Given the description of an element on the screen output the (x, y) to click on. 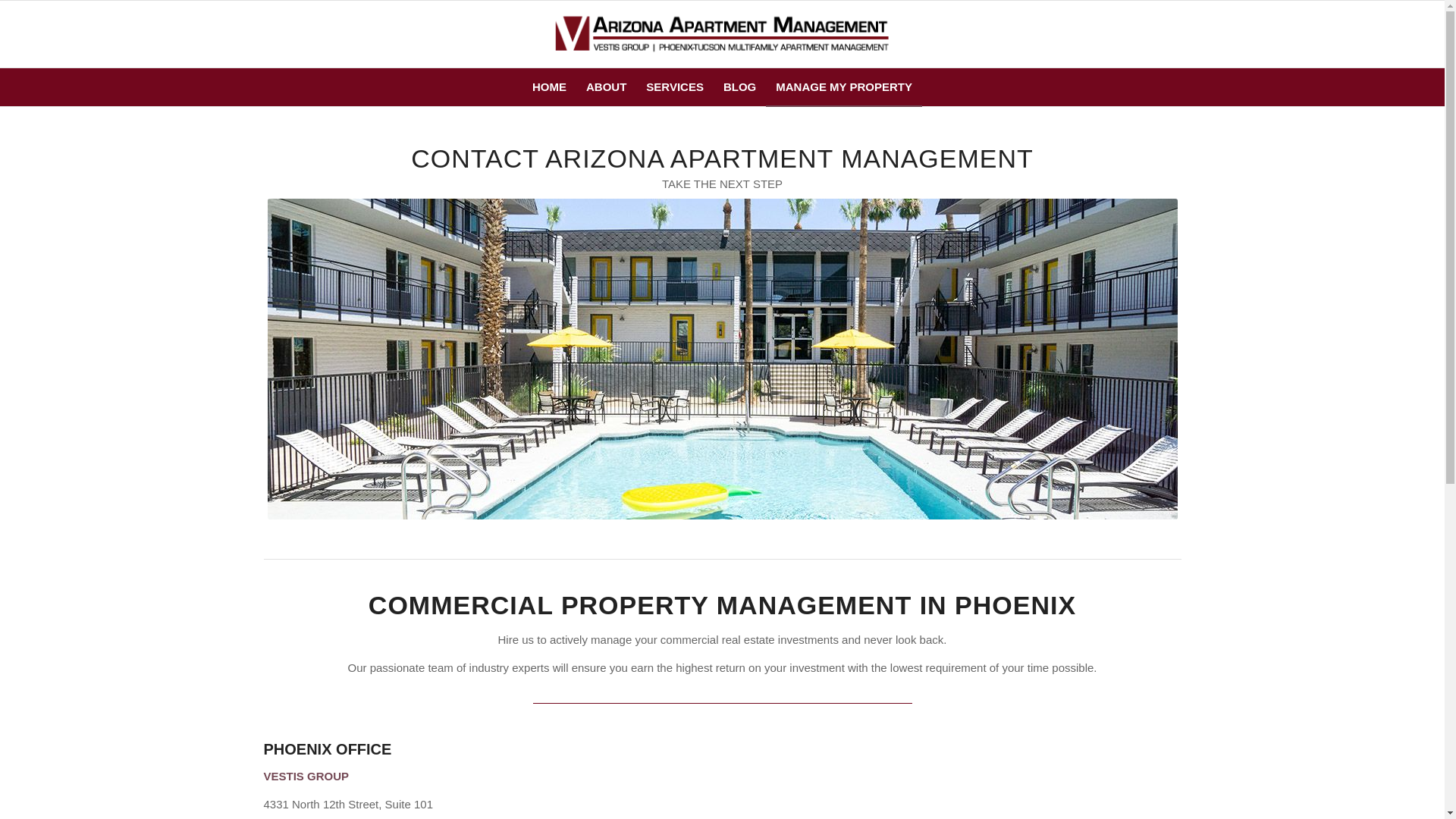
SERVICES (674, 86)
ABOUT (606, 86)
MANAGE MY PROPERTY (843, 86)
HOME (549, 86)
BLOG (739, 86)
Arizona Apartment Management logo (721, 33)
